Given the description of an element on the screen output the (x, y) to click on. 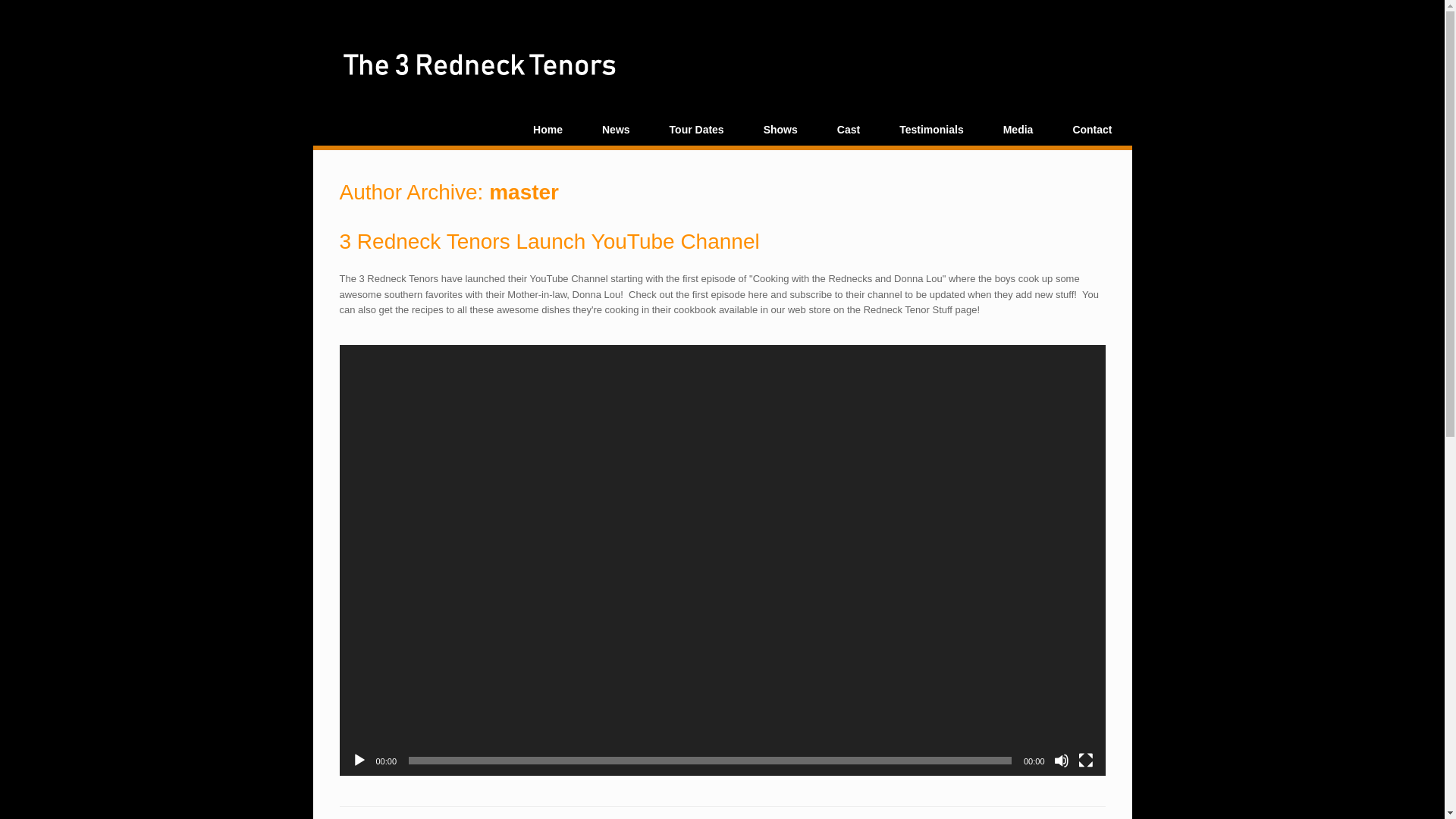
Cast Element type: text (848, 129)
Mute Element type: hover (1061, 760)
Play Element type: hover (359, 760)
Skip to content Element type: text (312, 14)
Testimonials Element type: text (931, 129)
News Element type: text (615, 129)
master Element type: text (523, 191)
Home Element type: text (547, 129)
Fullscreen Element type: hover (1085, 760)
Shows Element type: text (780, 129)
3 Redneck Tenors Launch YouTube Channel Element type: text (549, 241)
Contact Element type: text (1091, 129)
Media Element type: text (1018, 129)
Tour Dates Element type: text (696, 129)
3 Redneck Tenors Element type: hover (479, 64)
